Given the description of an element on the screen output the (x, y) to click on. 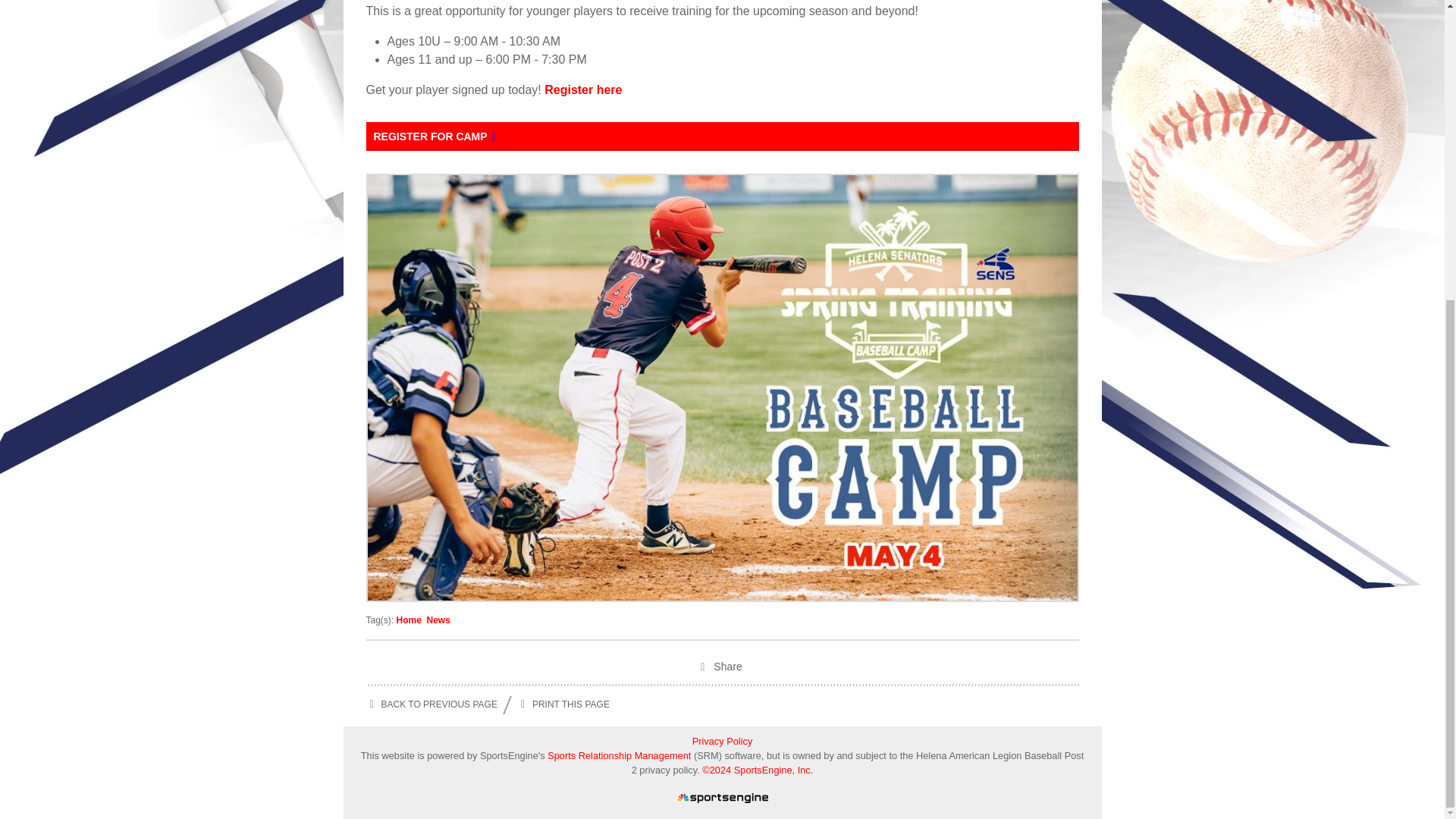
Share (721, 668)
Register here (582, 89)
Privacy Policy (722, 740)
PRINT THIS PAGE (563, 704)
News (437, 620)
BACK TO PREVIOUS PAGE (430, 704)
REGISTER FOR CAMP (721, 136)
Sports Relationship Management (620, 755)
Home (409, 620)
